Given the description of an element on the screen output the (x, y) to click on. 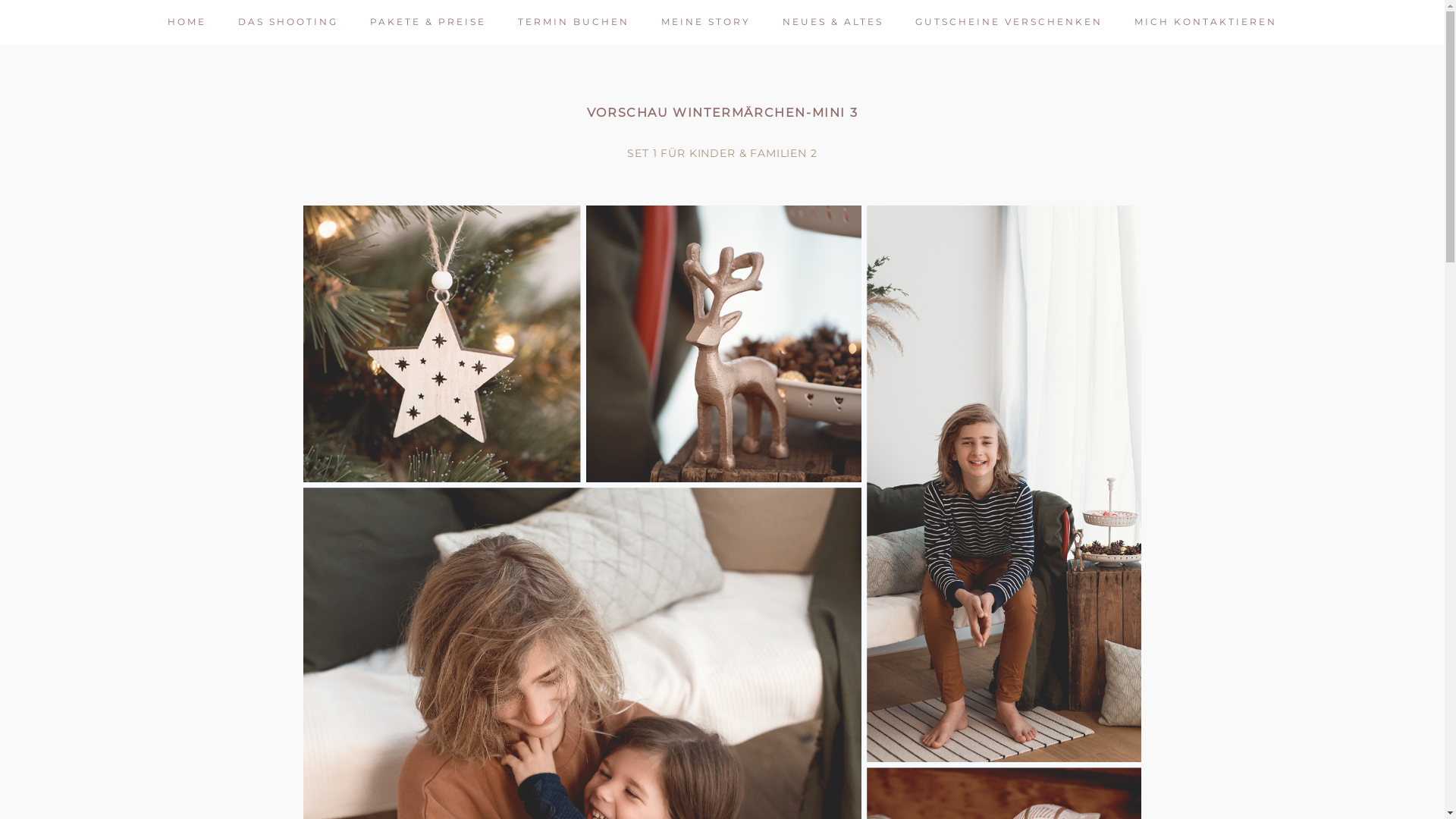
NEUES & ALTES Element type: text (832, 21)
GUTSCHEINE VERSCHENKEN Element type: text (1008, 21)
MEINE STORY Element type: text (705, 21)
MICH KONTAKTIEREN Element type: text (1205, 21)
HOME Element type: text (186, 21)
PAKETE & PREISE Element type: text (428, 21)
TERMIN BUCHEN Element type: text (573, 21)
DAS SHOOTING Element type: text (288, 21)
